Given the description of an element on the screen output the (x, y) to click on. 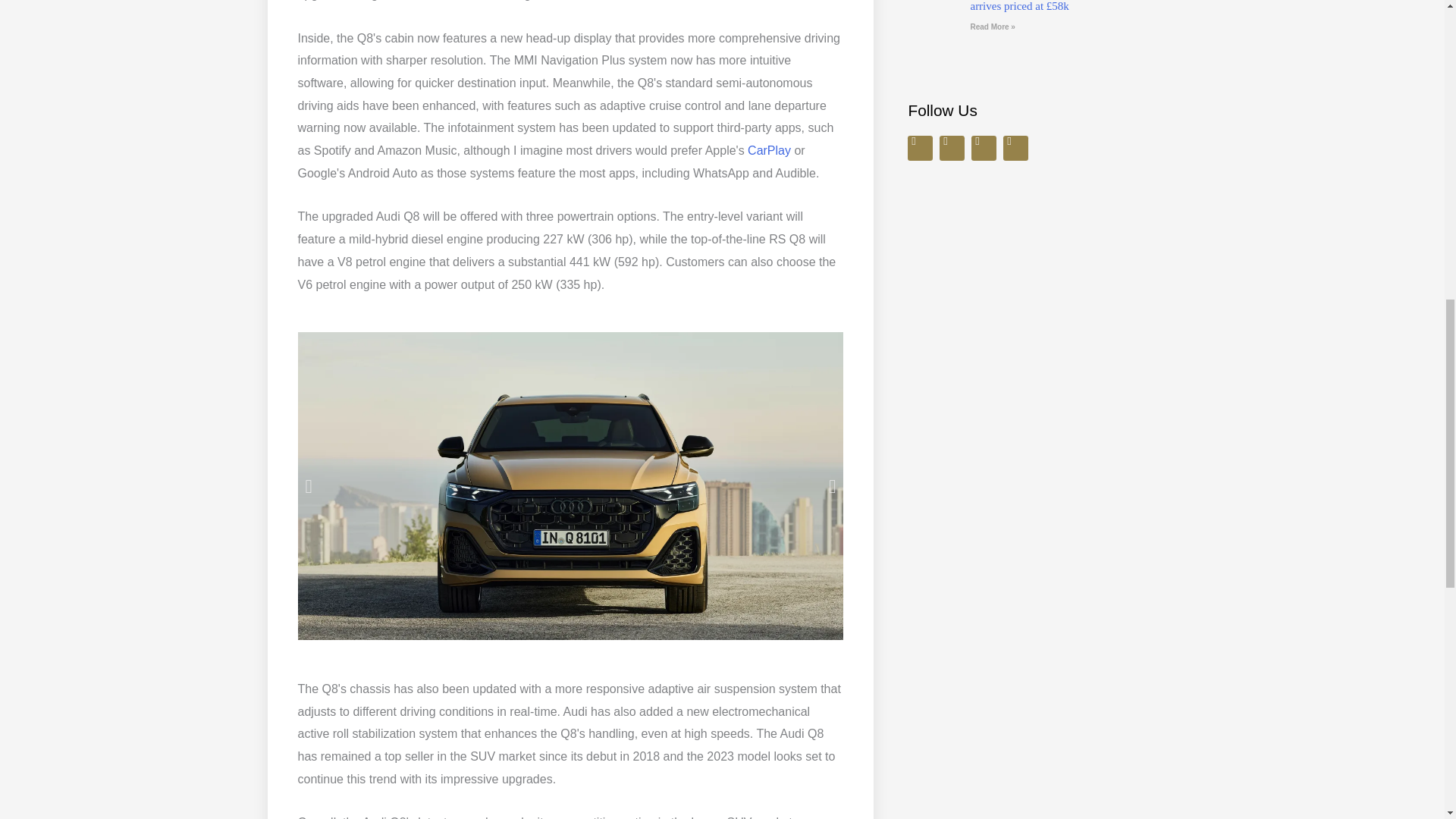
Envelope (1015, 147)
CarPlay (769, 150)
Facebook-f (951, 147)
Twitter (920, 147)
Instagram (983, 147)
